Given the description of an element on the screen output the (x, y) to click on. 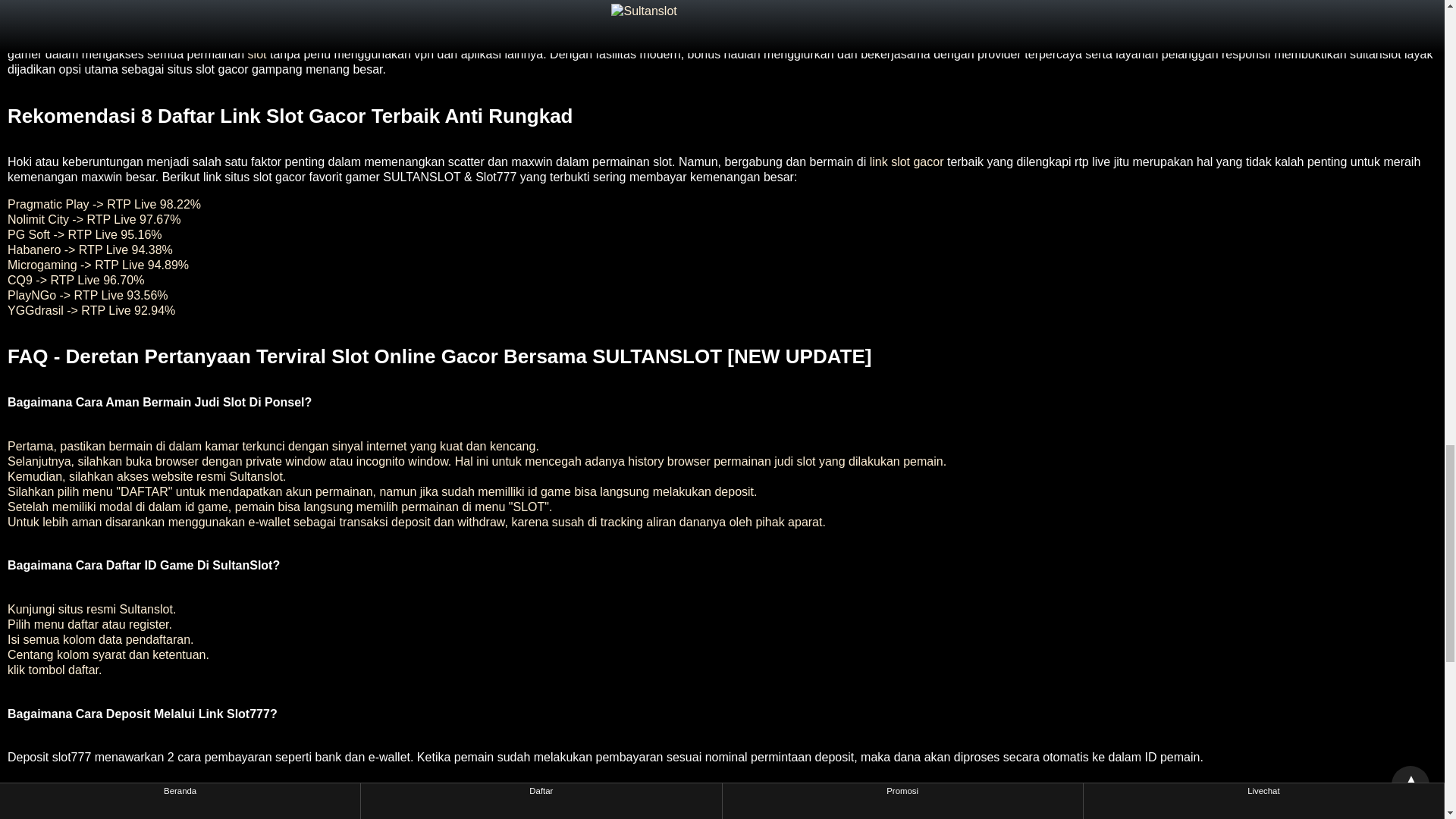
Sultanslot (34, 1)
link slot gacor (906, 161)
slot (256, 53)
